Given the description of an element on the screen output the (x, y) to click on. 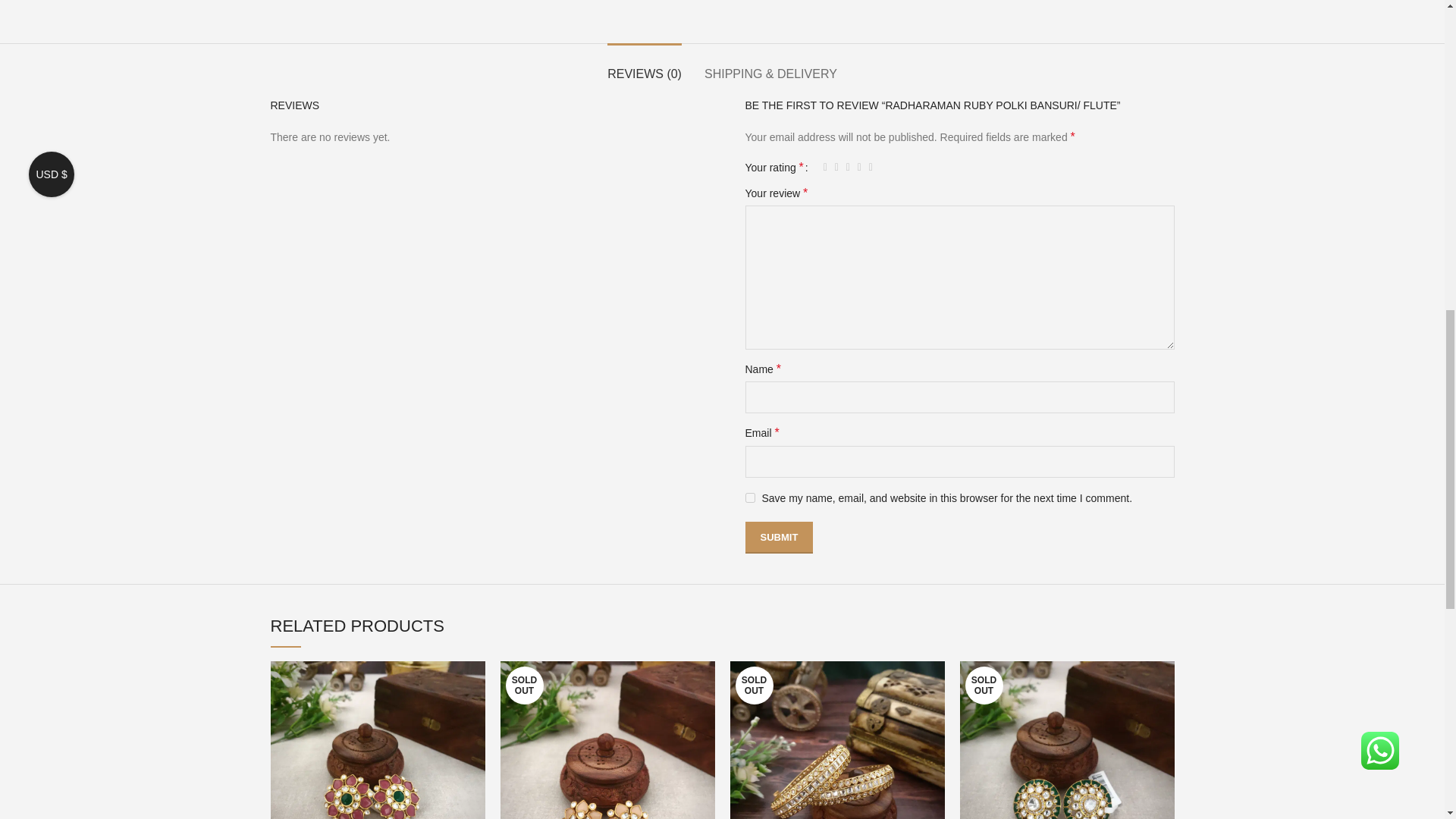
Submit (778, 537)
yes (749, 497)
